Given the description of an element on the screen output the (x, y) to click on. 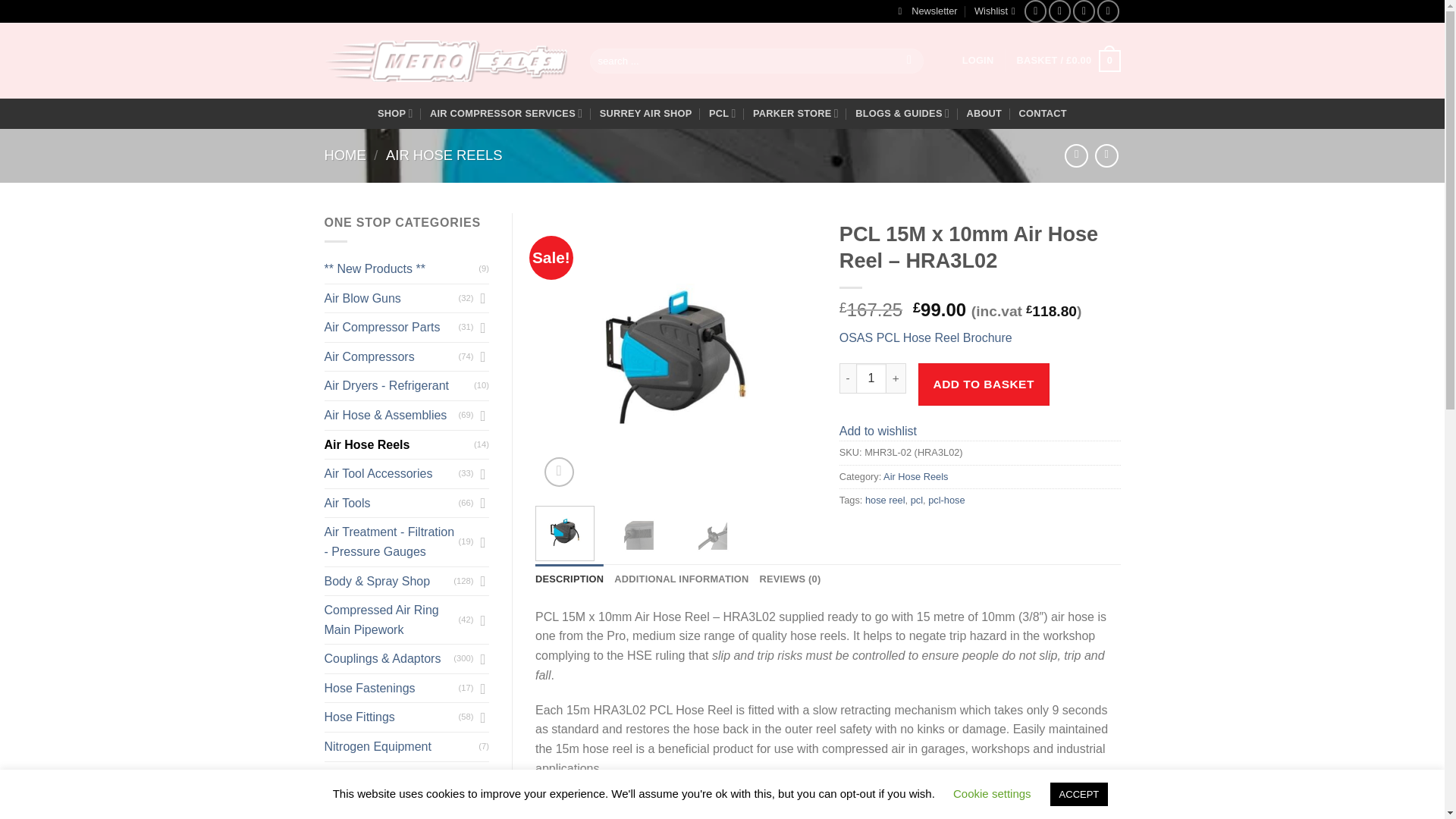
PCL (722, 112)
Send us an email (1083, 11)
Follow on Facebook (1035, 11)
Sign up for Newsletter (927, 11)
Zoom (558, 471)
Follow on Instagram (1059, 11)
Basket (1067, 61)
Login (978, 60)
Wishlist (994, 11)
AIR COMPRESSOR SERVICES (505, 112)
SURREY AIR SHOP (646, 113)
Metro Sales - Making The Right Connections (445, 60)
LOGIN (978, 60)
SHOP (395, 112)
1 (871, 378)
